Given the description of an element on the screen output the (x, y) to click on. 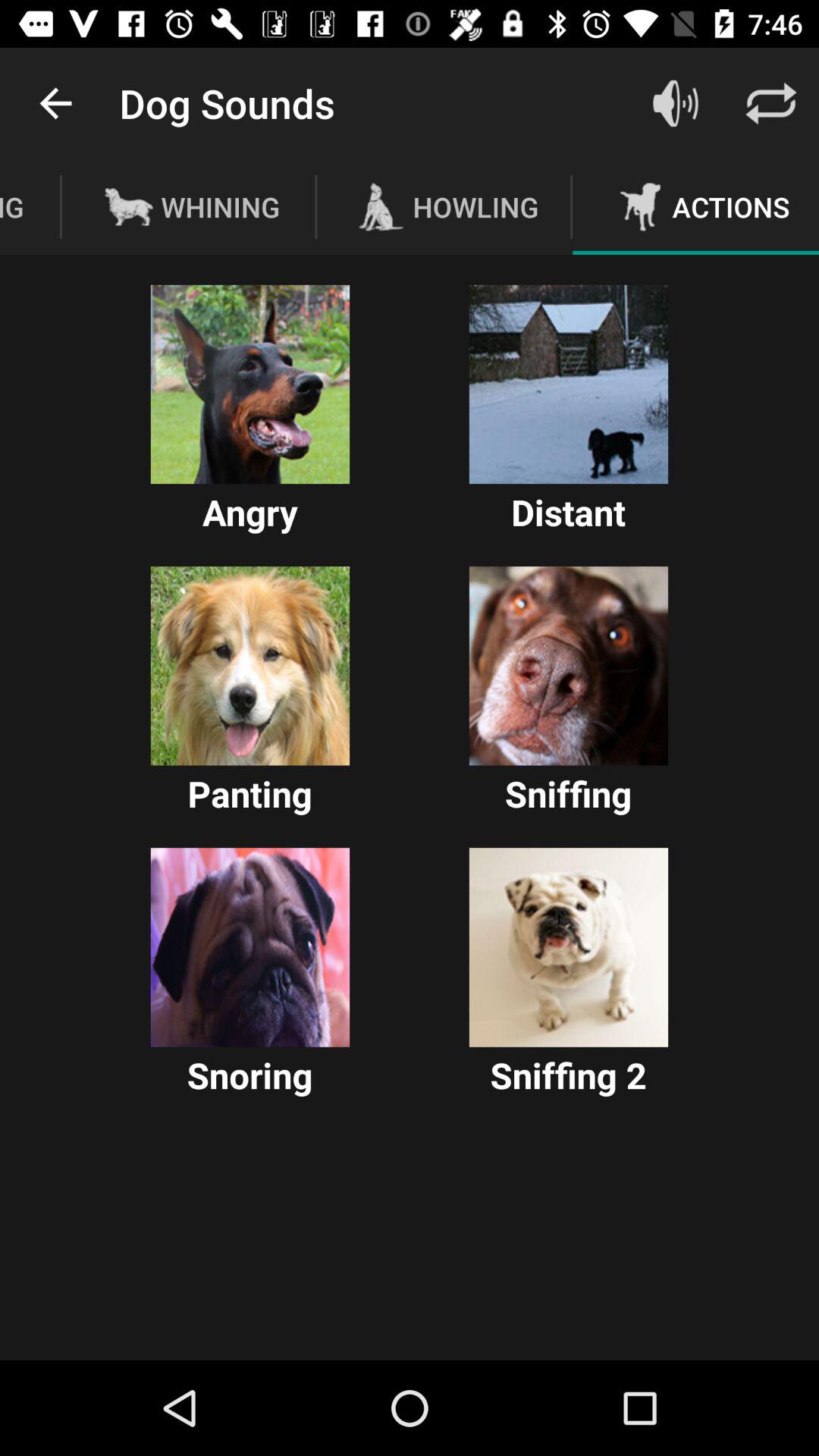
adjust volume (675, 103)
